Given the description of an element on the screen output the (x, y) to click on. 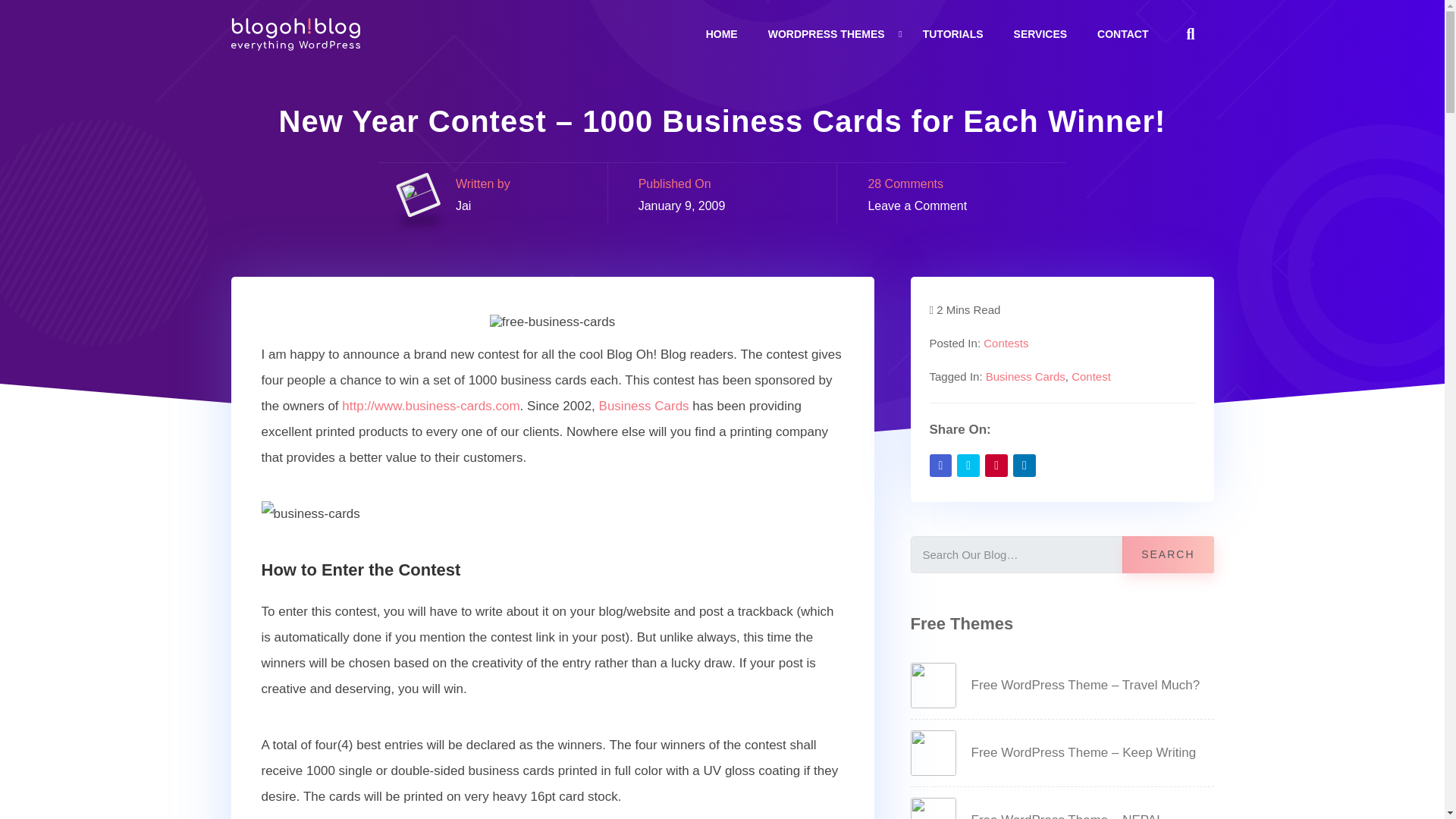
Jai (462, 205)
business card printing (430, 405)
SERVICES (1040, 33)
business-cards (309, 514)
CONTACT (1122, 33)
HOME (722, 33)
WORDPRESS THEMES (826, 33)
Business Cards (643, 405)
free-business-cards (551, 322)
TUTORIALS (953, 33)
Leave a Comment (916, 205)
